Given the description of an element on the screen output the (x, y) to click on. 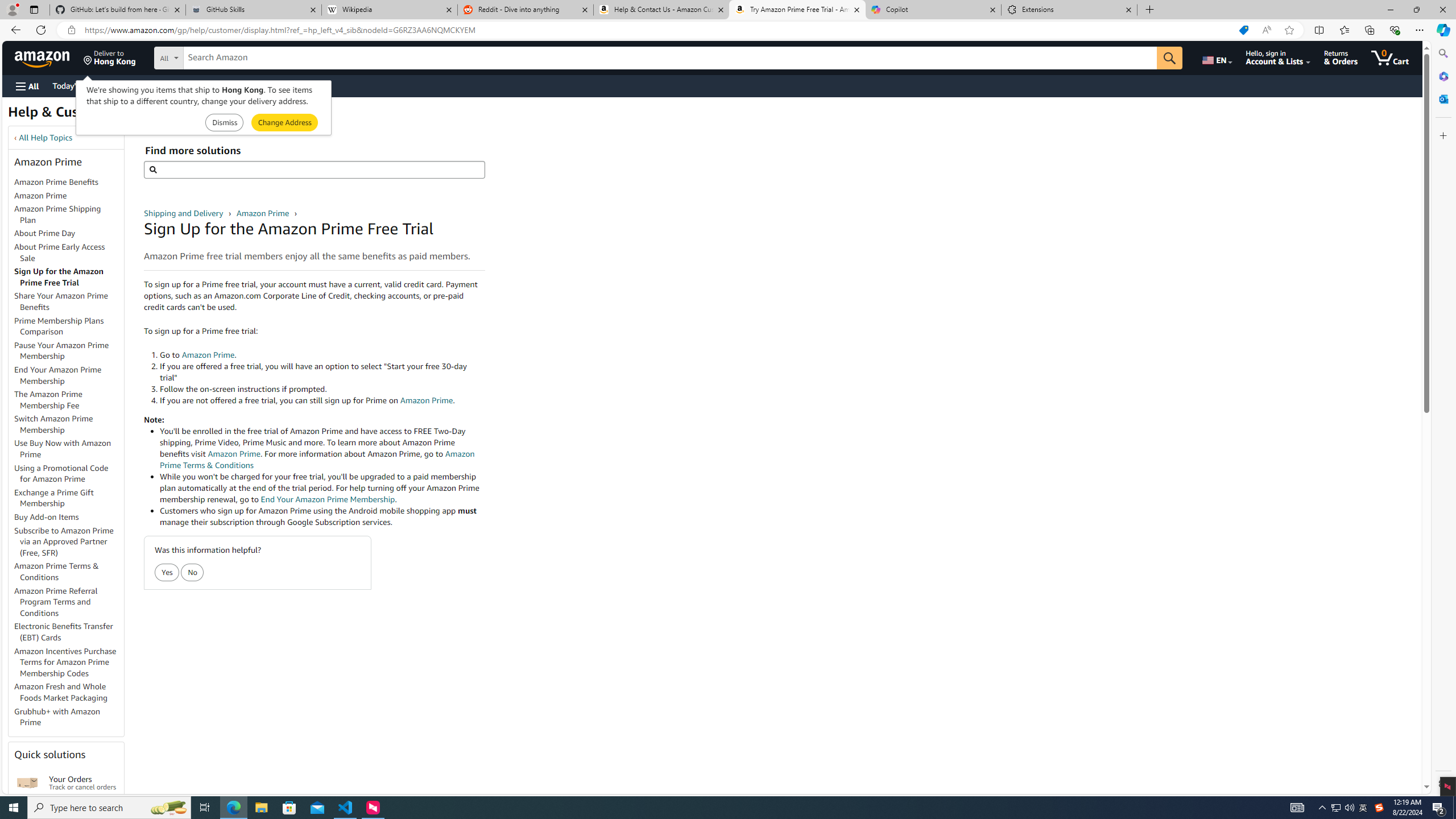
Help & Customer Service (87, 114)
Open Menu (26, 86)
Address and search bar (658, 29)
View site information (70, 29)
Returns & Orders (1340, 57)
Refresh (40, 29)
Amazon Prime Shipping Plan (57, 214)
Amazon Prime Terms & Conditions (56, 571)
Copilot (933, 9)
Amazon Fresh and Whole Foods Market Packaging (68, 692)
Choose a language for shopping. (1216, 57)
Amazon Prime (68, 196)
Search (1442, 53)
Close Outlook pane (1442, 98)
